Given the description of an element on the screen output the (x, y) to click on. 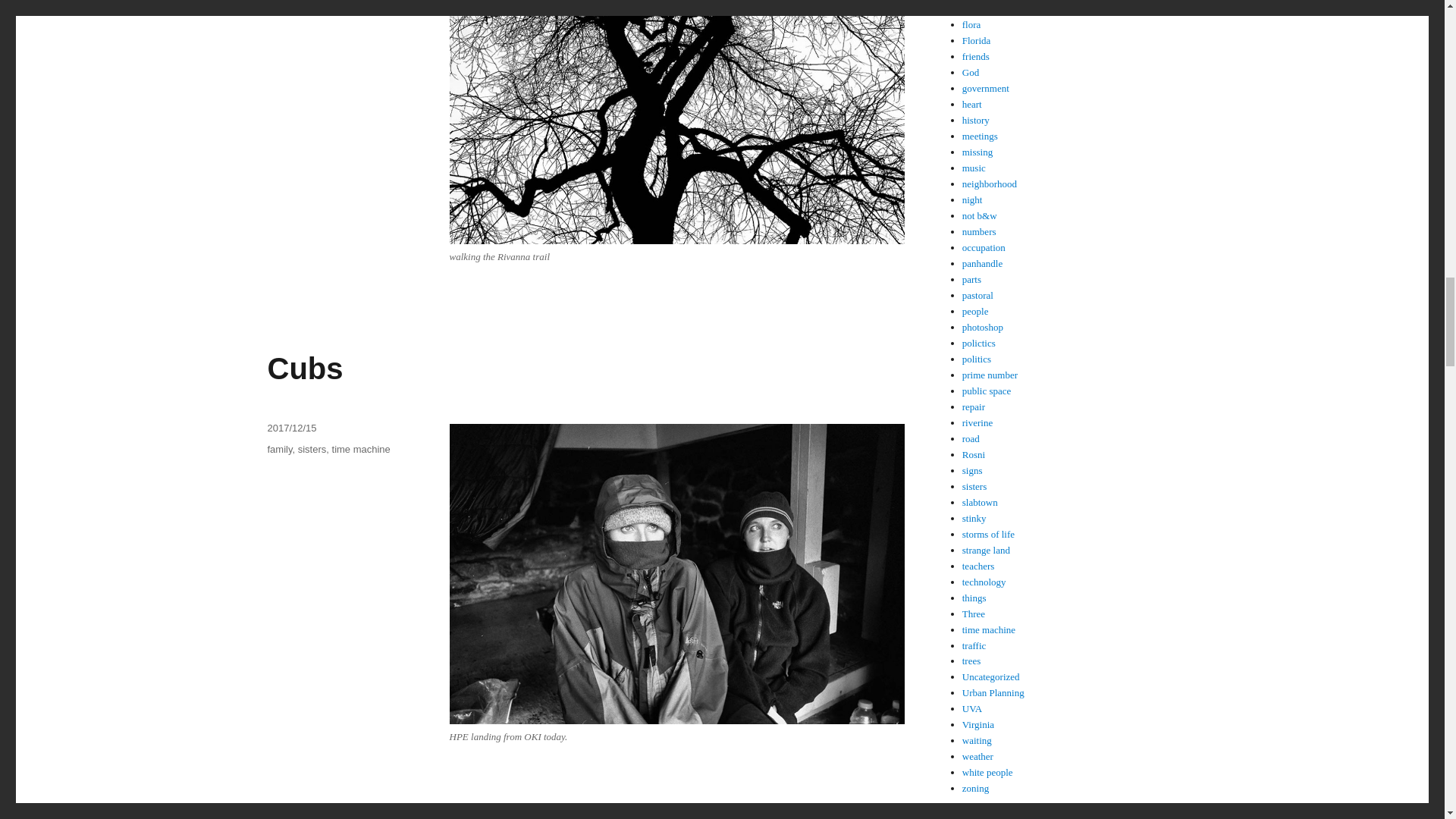
sisters (312, 449)
family (279, 449)
time machine (360, 449)
Cubs (304, 368)
